Given the description of an element on the screen output the (x, y) to click on. 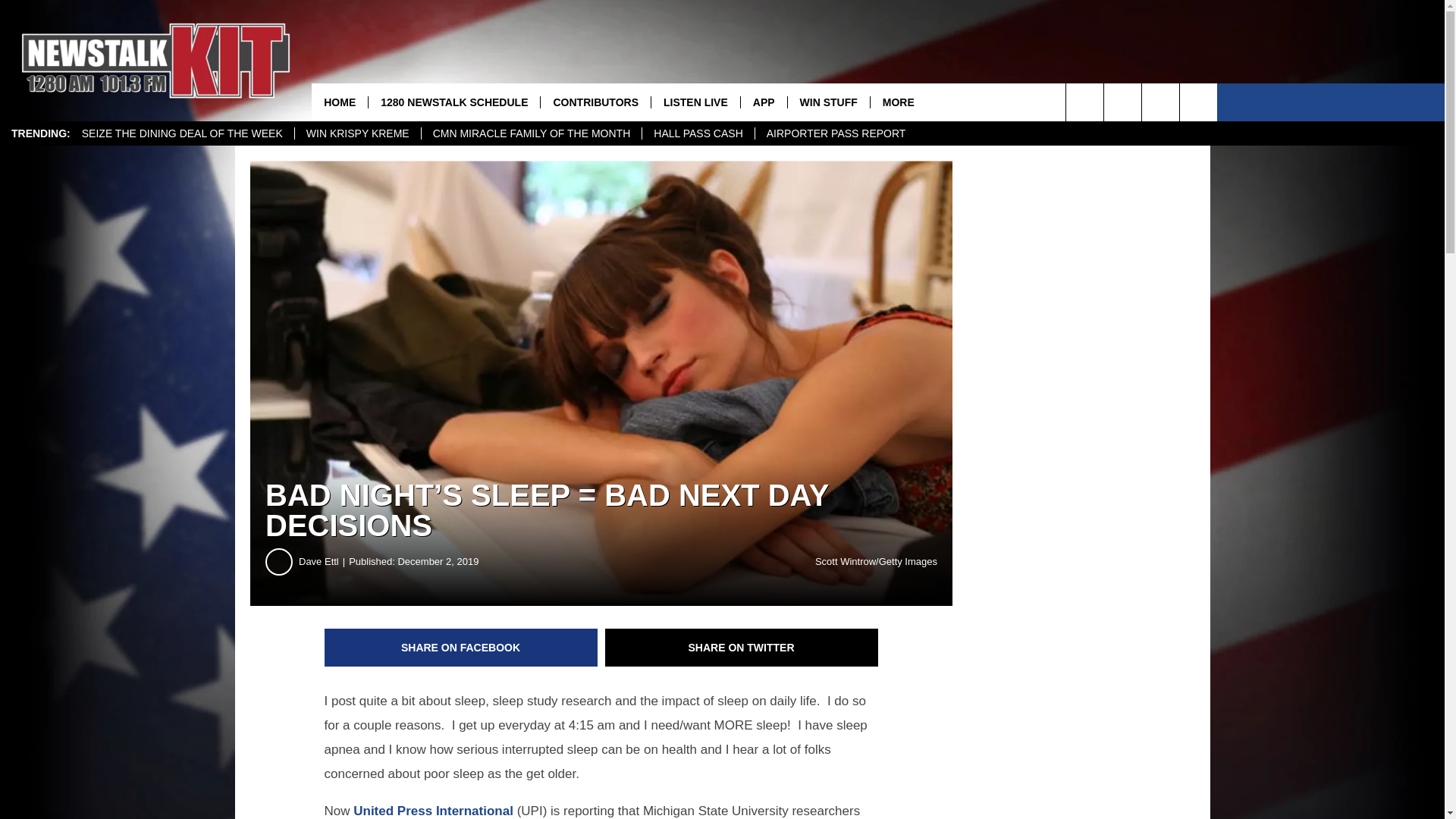
Share on Twitter (741, 647)
WIN KRISPY KREME (357, 133)
APP (763, 102)
Share on Facebook (460, 647)
HALL PASS CASH (698, 133)
1280 NEWSTALK SCHEDULE (454, 102)
LISTEN LIVE (694, 102)
HOME (339, 102)
SEIZE THE DINING DEAL OF THE WEEK (181, 133)
AIRPORTER PASS REPORT (835, 133)
